Given the description of an element on the screen output the (x, y) to click on. 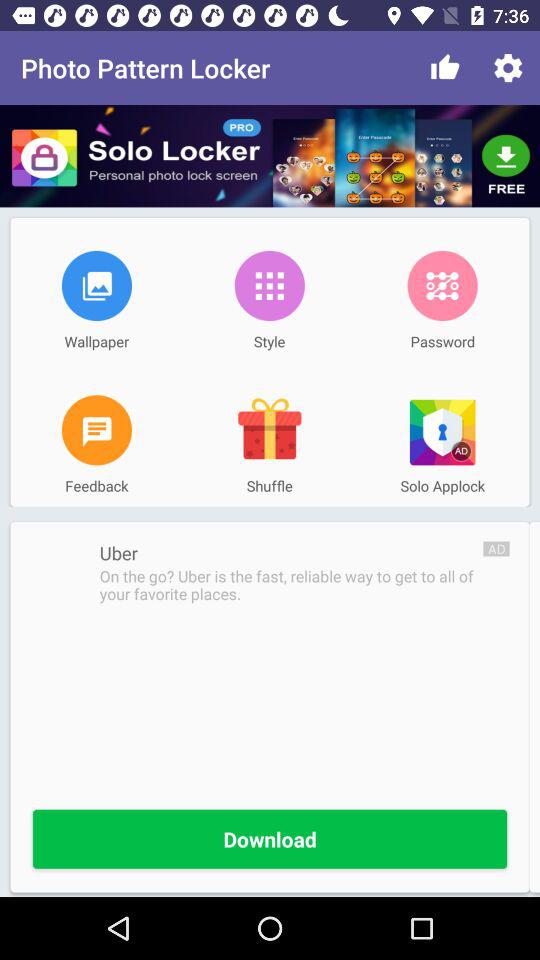
select icon above password (442, 285)
